Given the description of an element on the screen output the (x, y) to click on. 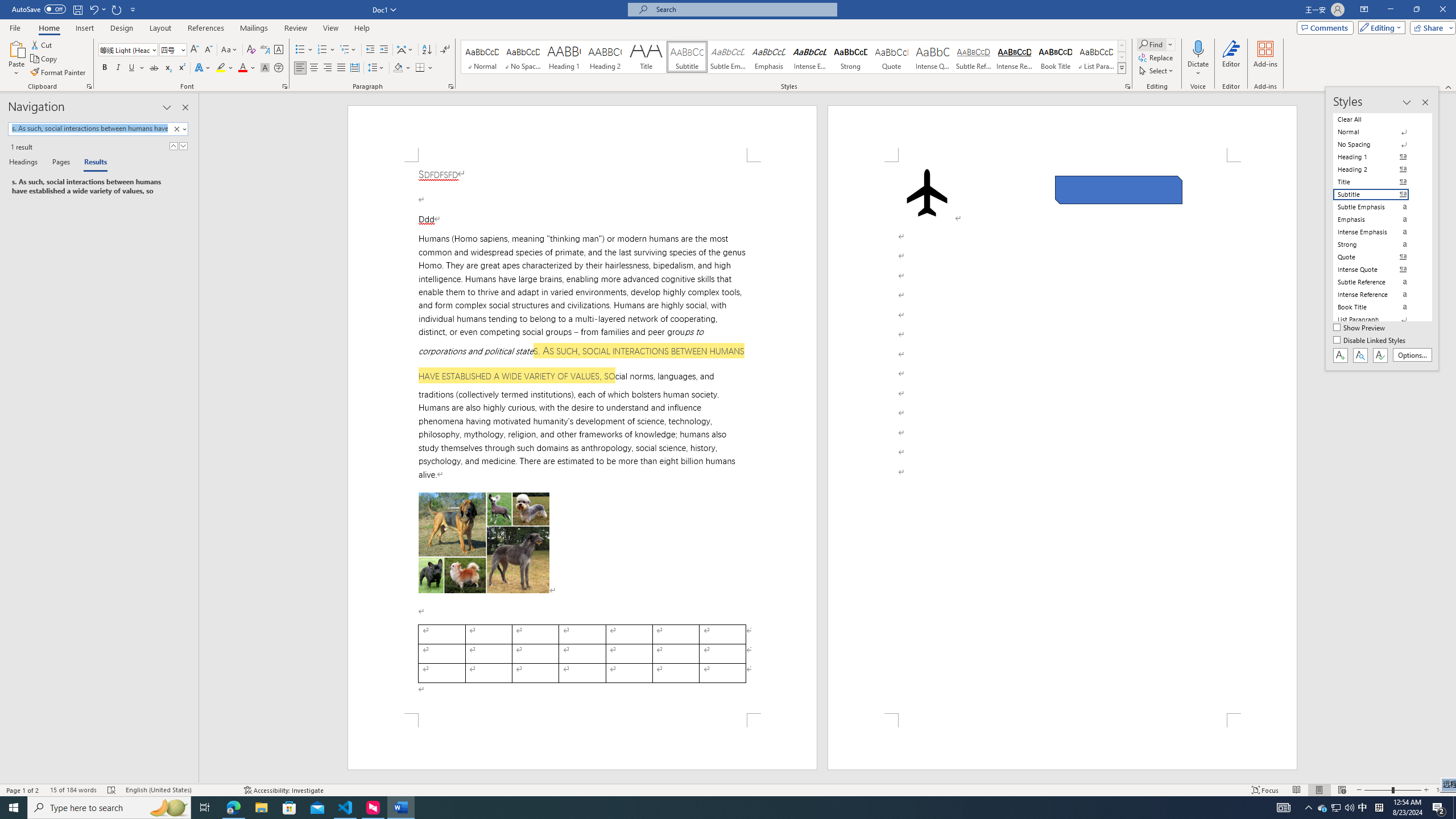
Undo Style (92, 9)
Strong (849, 56)
Font Color RGB(255, 0, 0) (241, 67)
Disable Linked Styles (1370, 340)
